Given the description of an element on the screen output the (x, y) to click on. 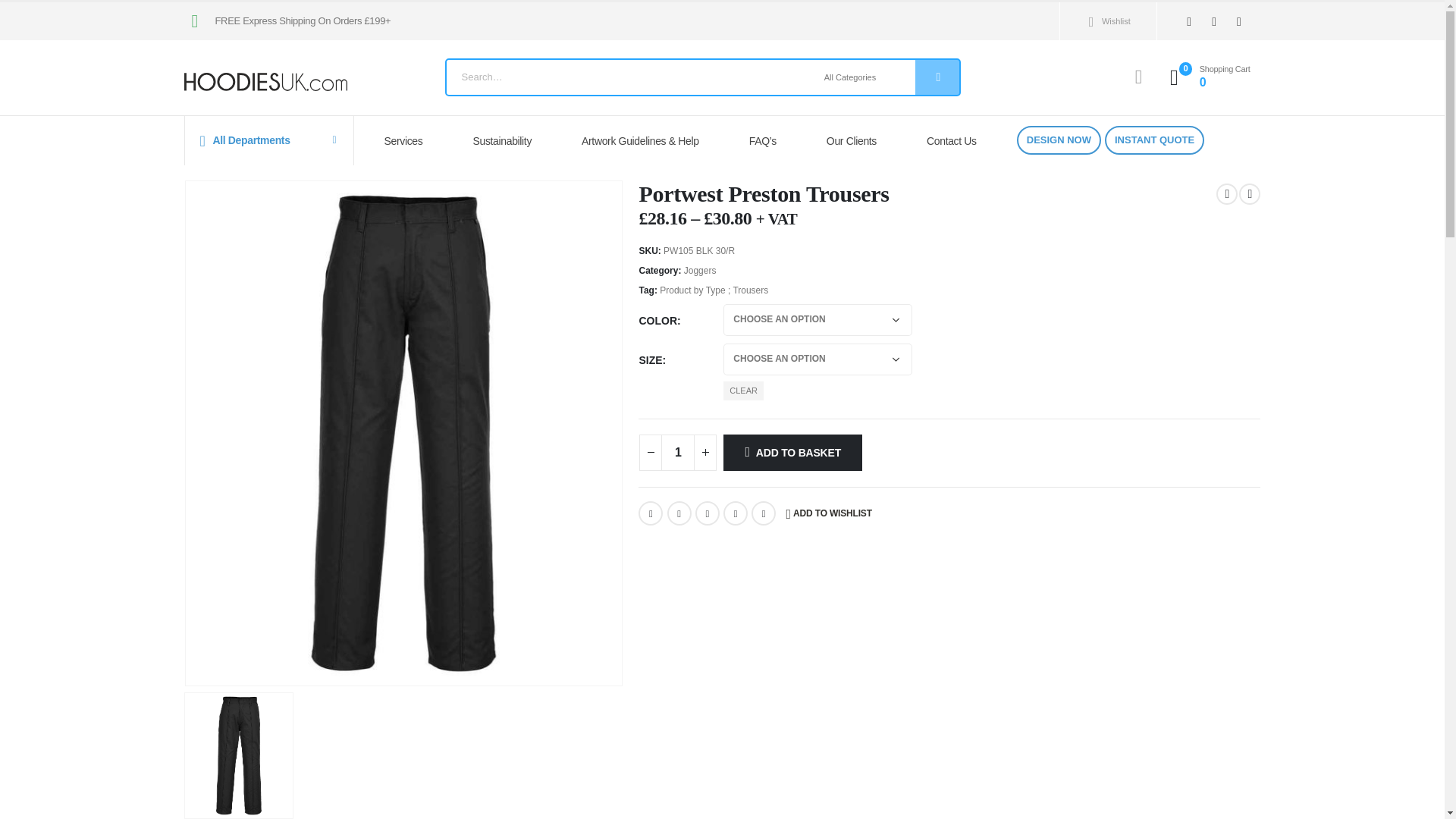
Twitter (1214, 21)
Sustainability (506, 140)
Twitter (678, 513)
My Account (1138, 76)
Facebook (650, 513)
Search (937, 77)
LinkedIn (707, 513)
Instagram (1239, 21)
Facebook (1188, 21)
Wishlist (1106, 21)
Services (408, 140)
Our Clients (855, 140)
1 (677, 452)
Email (763, 513)
